Given the description of an element on the screen output the (x, y) to click on. 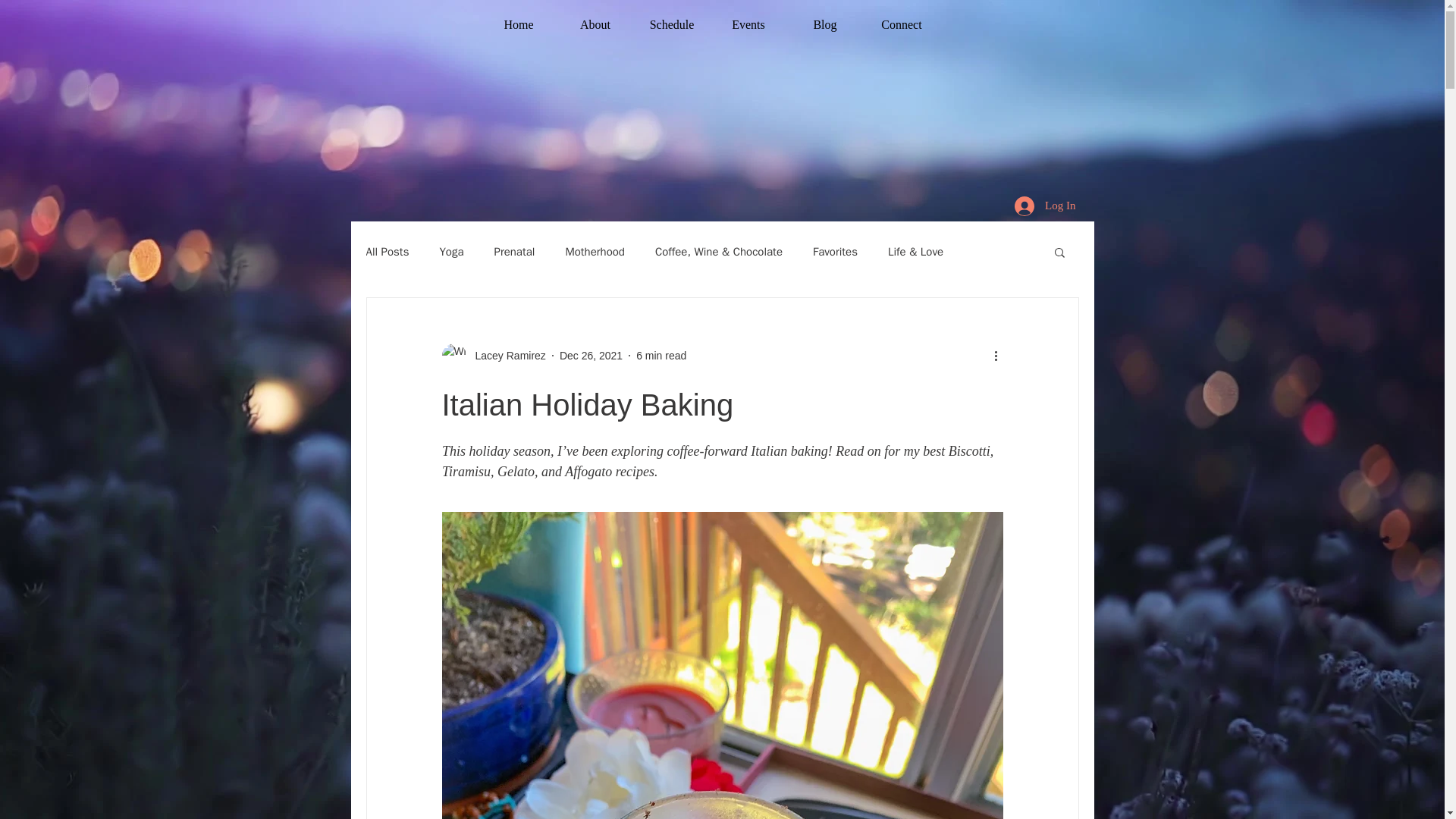
6 min read (660, 354)
Blog (825, 18)
Schedule (671, 18)
Connect (901, 18)
Favorites (834, 251)
All Posts (387, 251)
Log In (1045, 205)
Dec 26, 2021 (591, 354)
Home (518, 18)
About (594, 18)
Lacey Ramirez (492, 355)
Yoga (451, 251)
Lacey Ramirez (504, 355)
Motherhood (594, 251)
Events (748, 18)
